Given the description of an element on the screen output the (x, y) to click on. 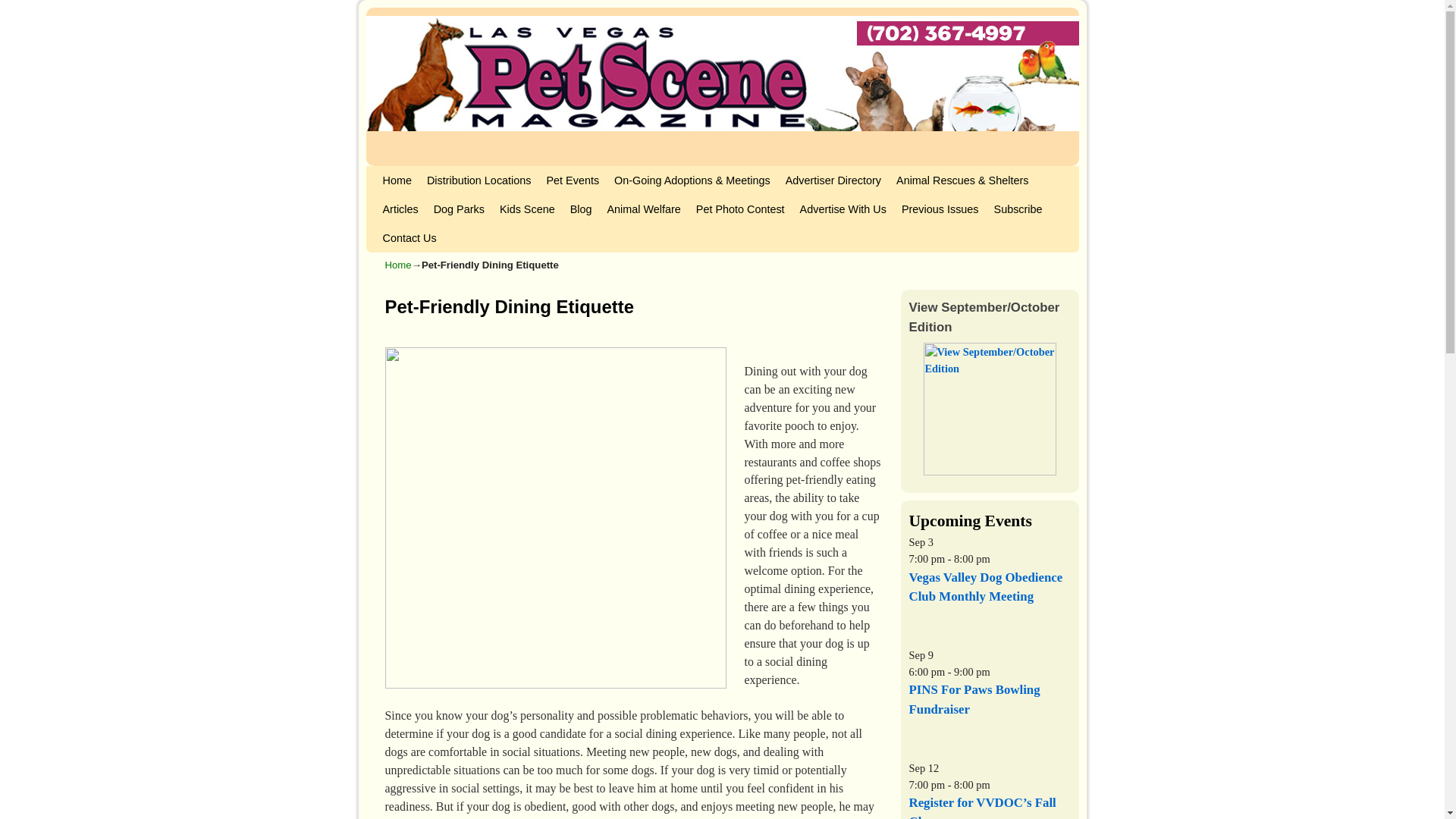
Distribution Locations (478, 180)
Dog Parks (459, 208)
Previous Issues (940, 208)
Pet Events (572, 180)
PINS For Paws Bowling Fundraiser (973, 698)
Blog (580, 208)
Articles (399, 208)
Skip to primary content (408, 172)
Advertise With Us (842, 208)
Contact Us (409, 237)
